Given the description of an element on the screen output the (x, y) to click on. 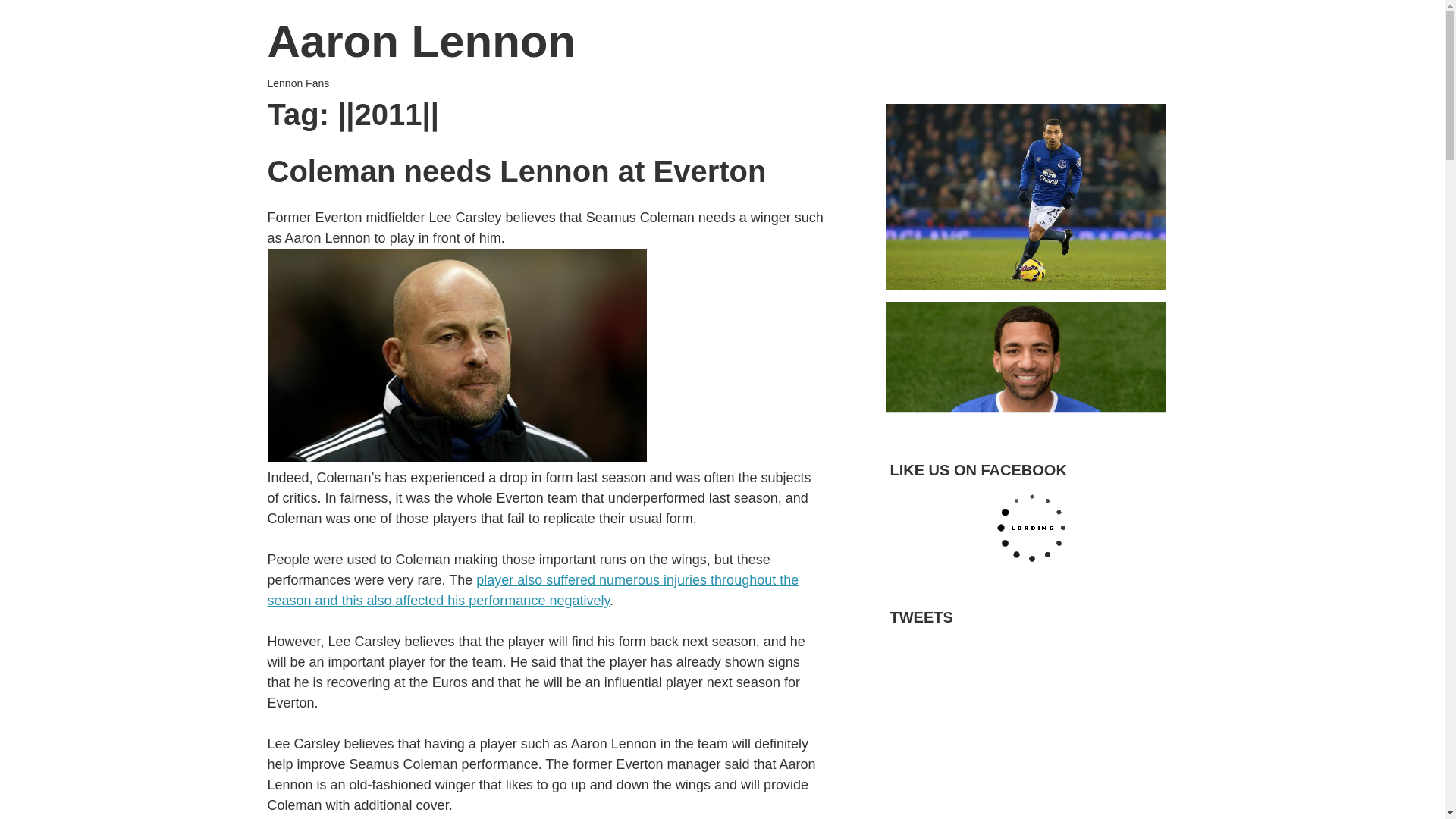
Coleman needs Lennon at Everton (515, 167)
Aaron Lennon (420, 40)
